Given the description of an element on the screen output the (x, y) to click on. 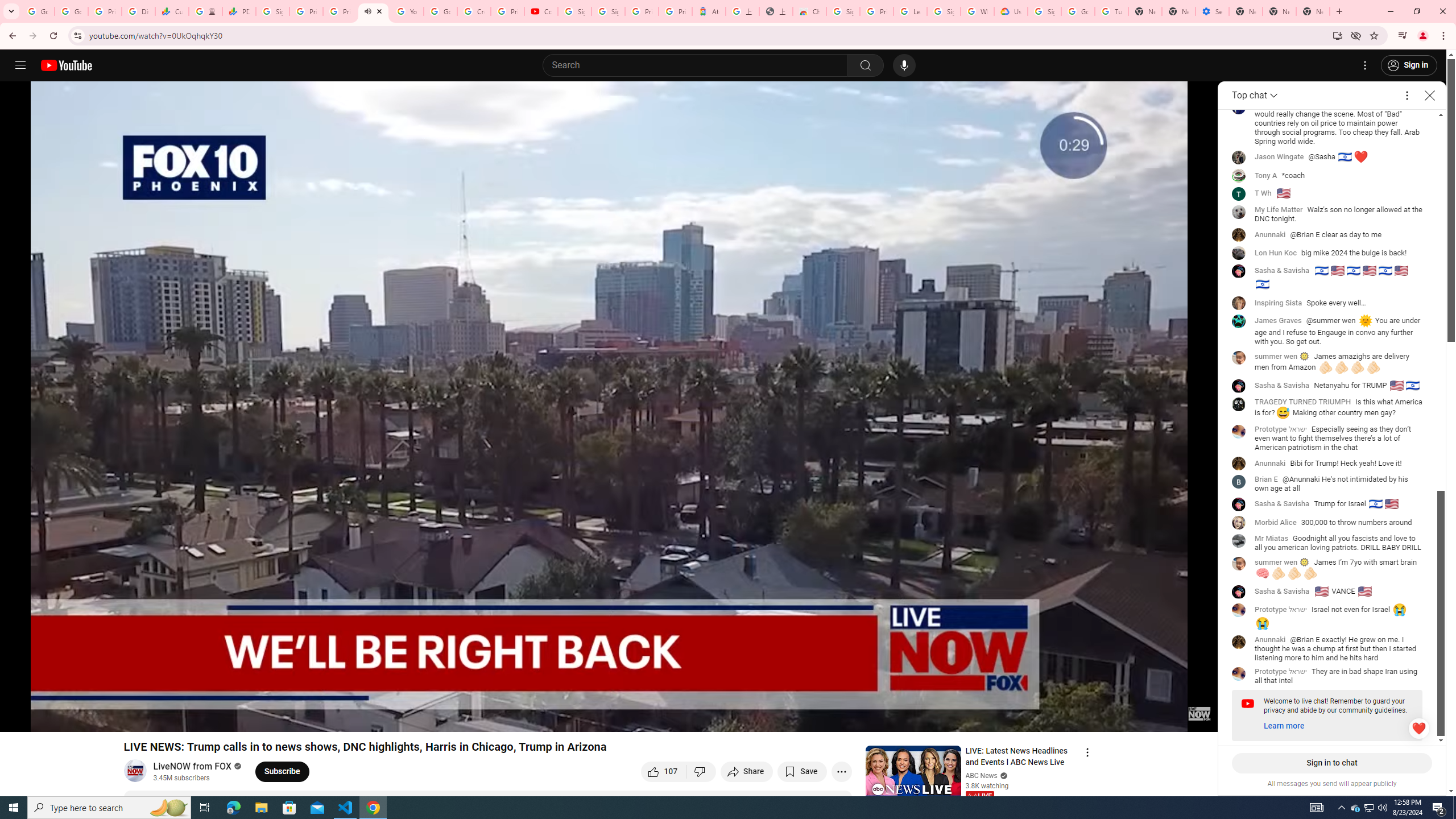
Sign in - Google Accounts (842, 11)
LiveNOW from FOX (192, 766)
Save to playlist (802, 771)
LIVE (979, 795)
Privacy Checkup (339, 11)
Sign in - Google Accounts (608, 11)
Who are Google's partners? - Privacy and conditions - Google (976, 11)
Sign in - Google Accounts (1043, 11)
like this video along with 107 other people (663, 771)
Share (746, 771)
